Given the description of an element on the screen output the (x, y) to click on. 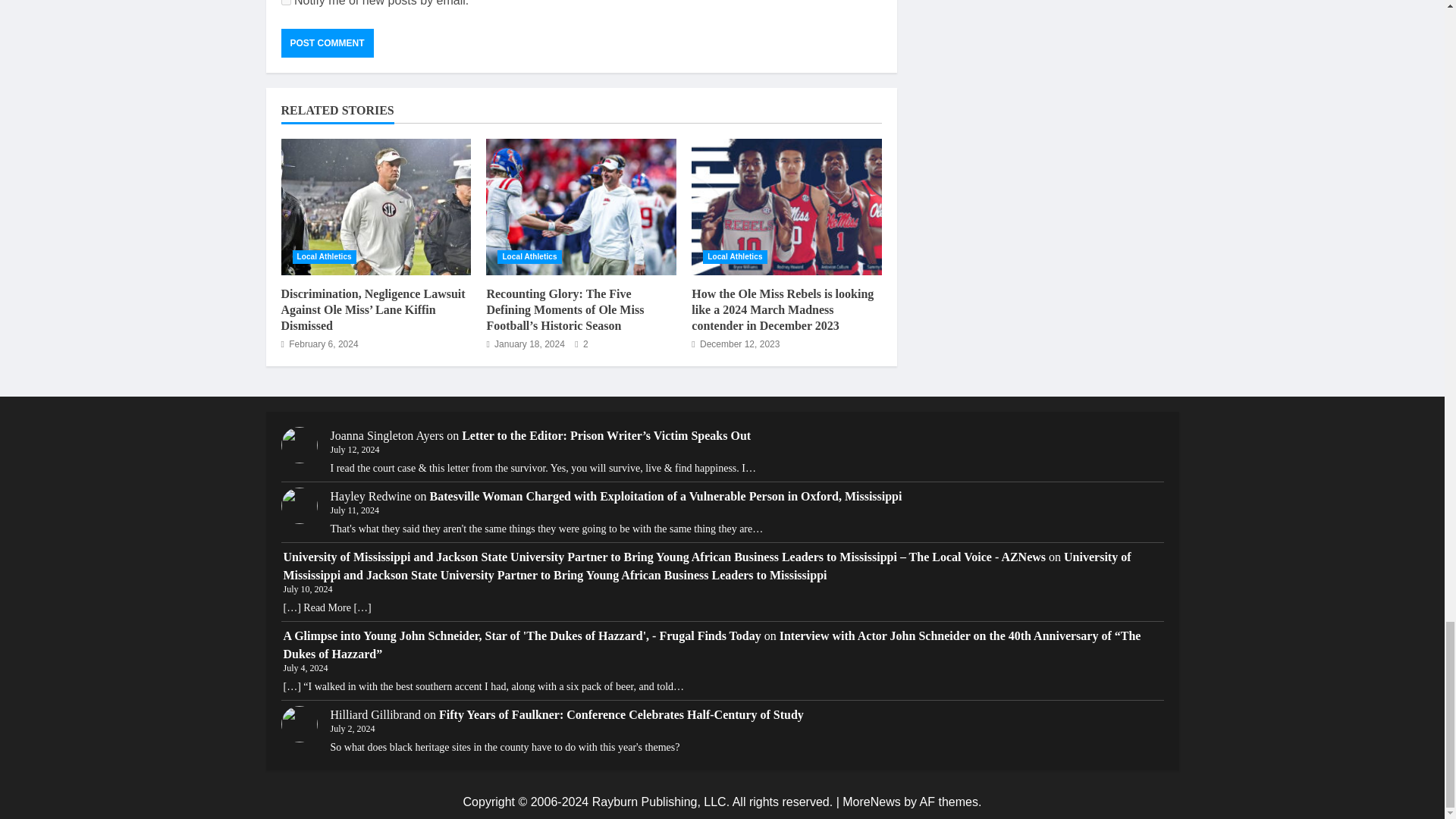
Post Comment (326, 42)
Post Comment (326, 42)
subscribe (285, 2)
